Given the description of an element on the screen output the (x, y) to click on. 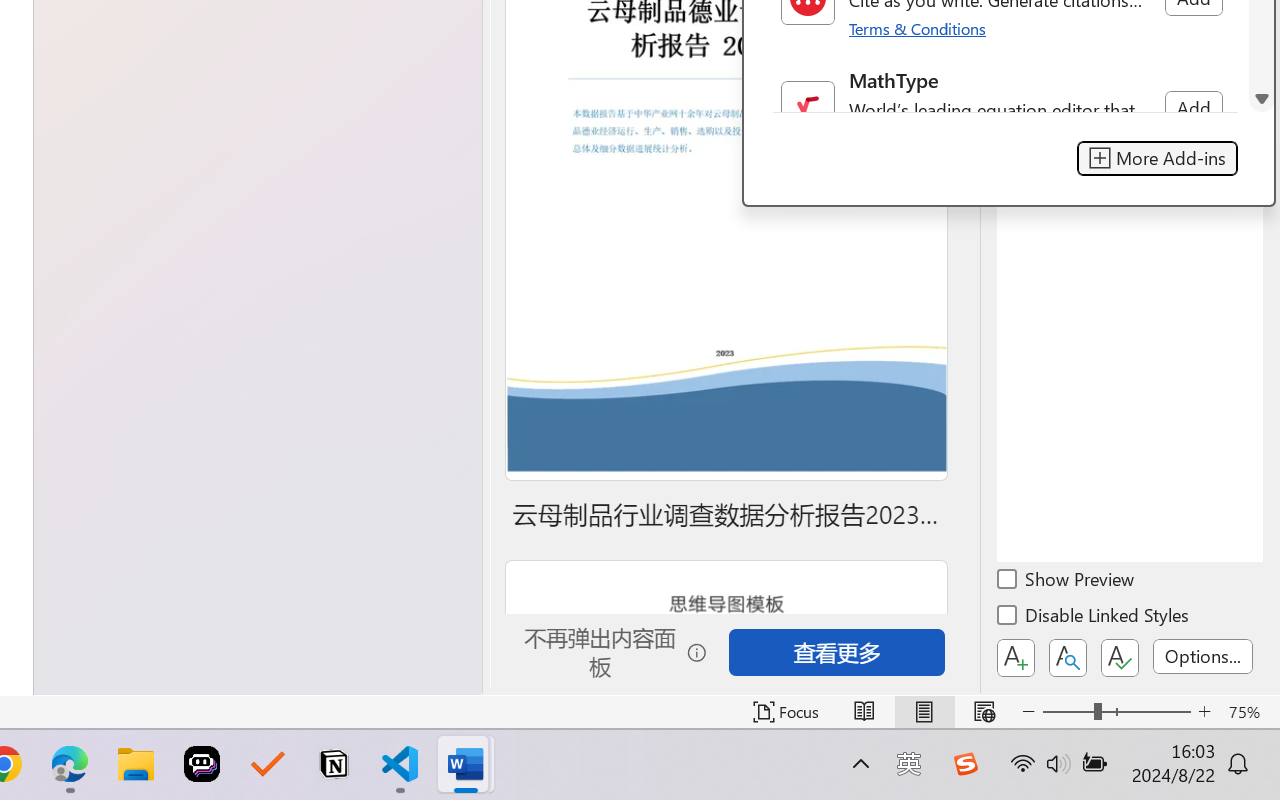
Zoom (1116, 712)
Focus  (786, 712)
Read Mode (864, 712)
Poe (201, 764)
MathType (1004, 108)
Class: Image (965, 764)
Notion (333, 764)
